Given the description of an element on the screen output the (x, y) to click on. 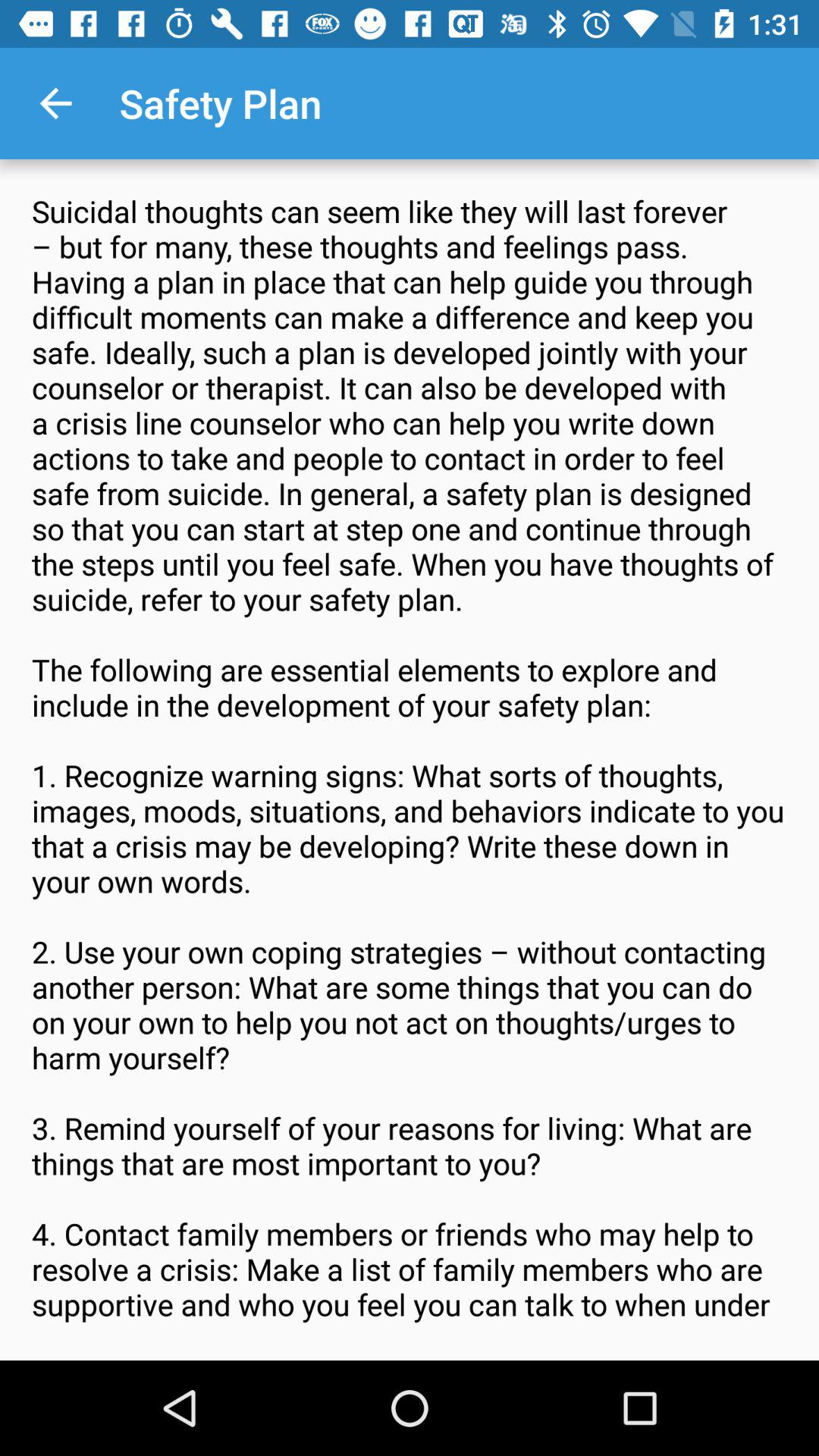
choose the item above suicidal thoughts can (55, 103)
